Given the description of an element on the screen output the (x, y) to click on. 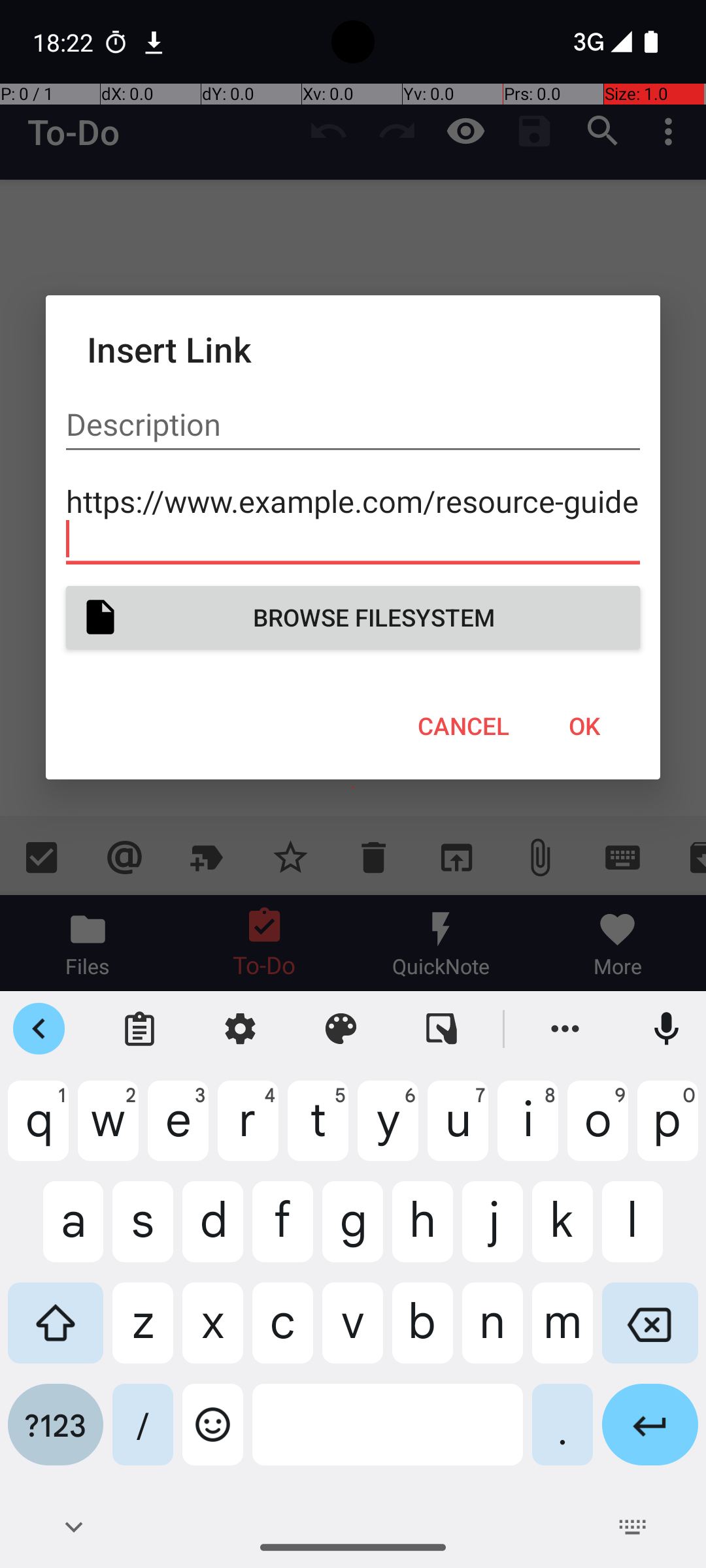
https://www.example.com/resource-guide
 Element type: android.widget.EditText (352, 519)
BROWSE FILESYSTEM Element type: android.widget.Button (352, 617)
slash Element type: android.widget.FrameLayout (142, 1434)
18:22 Element type: android.widget.TextView (64, 41)
